Given the description of an element on the screen output the (x, y) to click on. 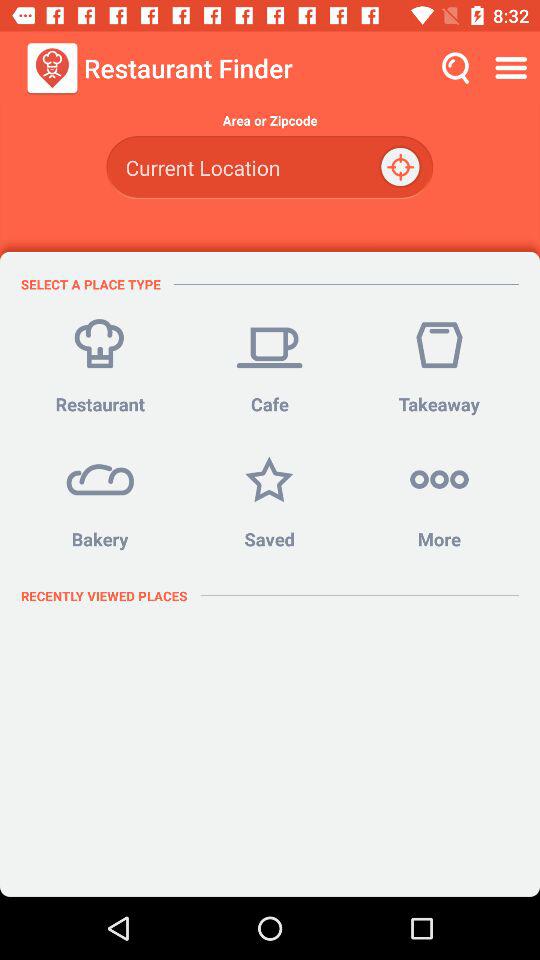
click the icon below area or zipcode (269, 167)
